Given the description of an element on the screen output the (x, y) to click on. 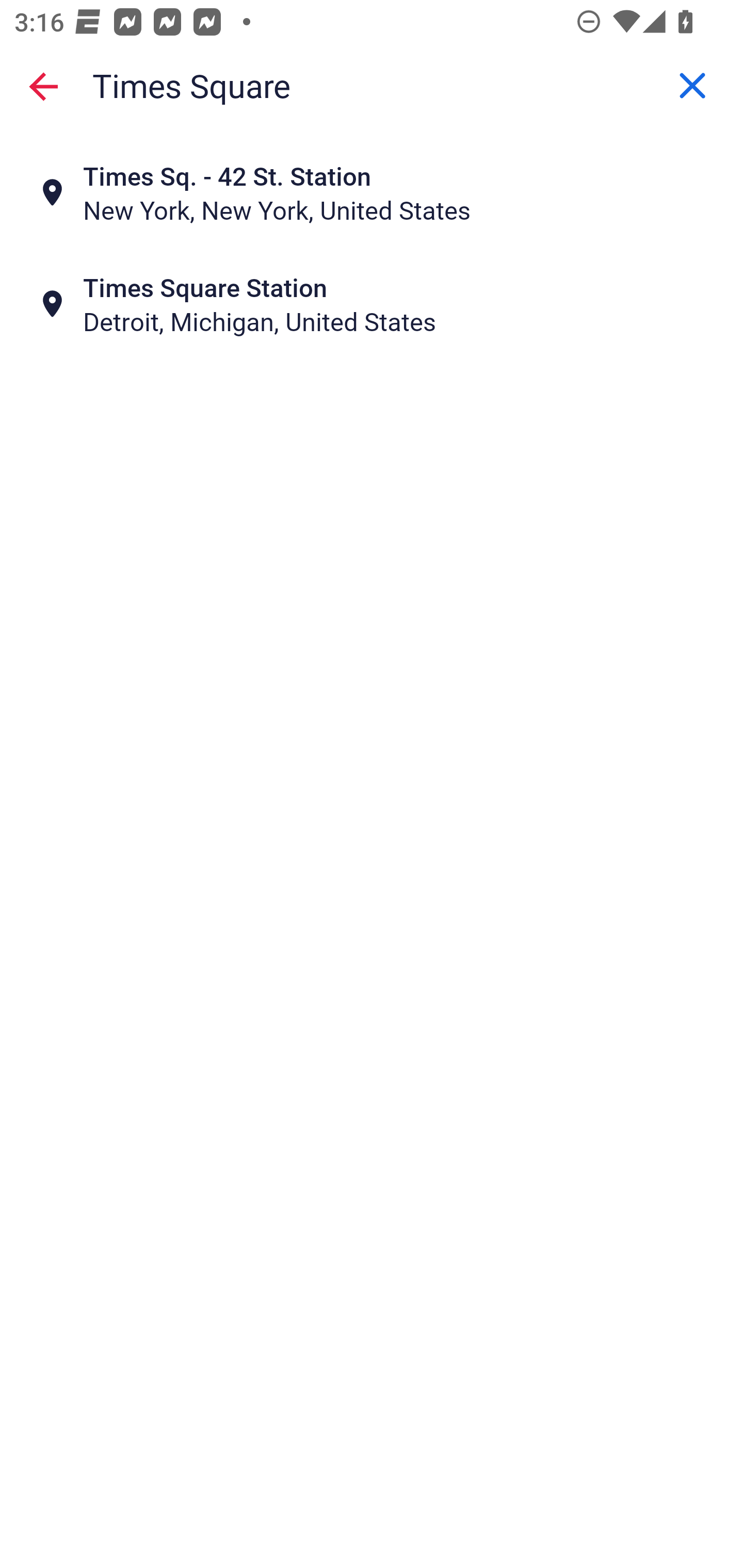
Clear Pick-up (692, 85)
Pick-up, Times Square (371, 85)
Close search screen (43, 86)
